Given the description of an element on the screen output the (x, y) to click on. 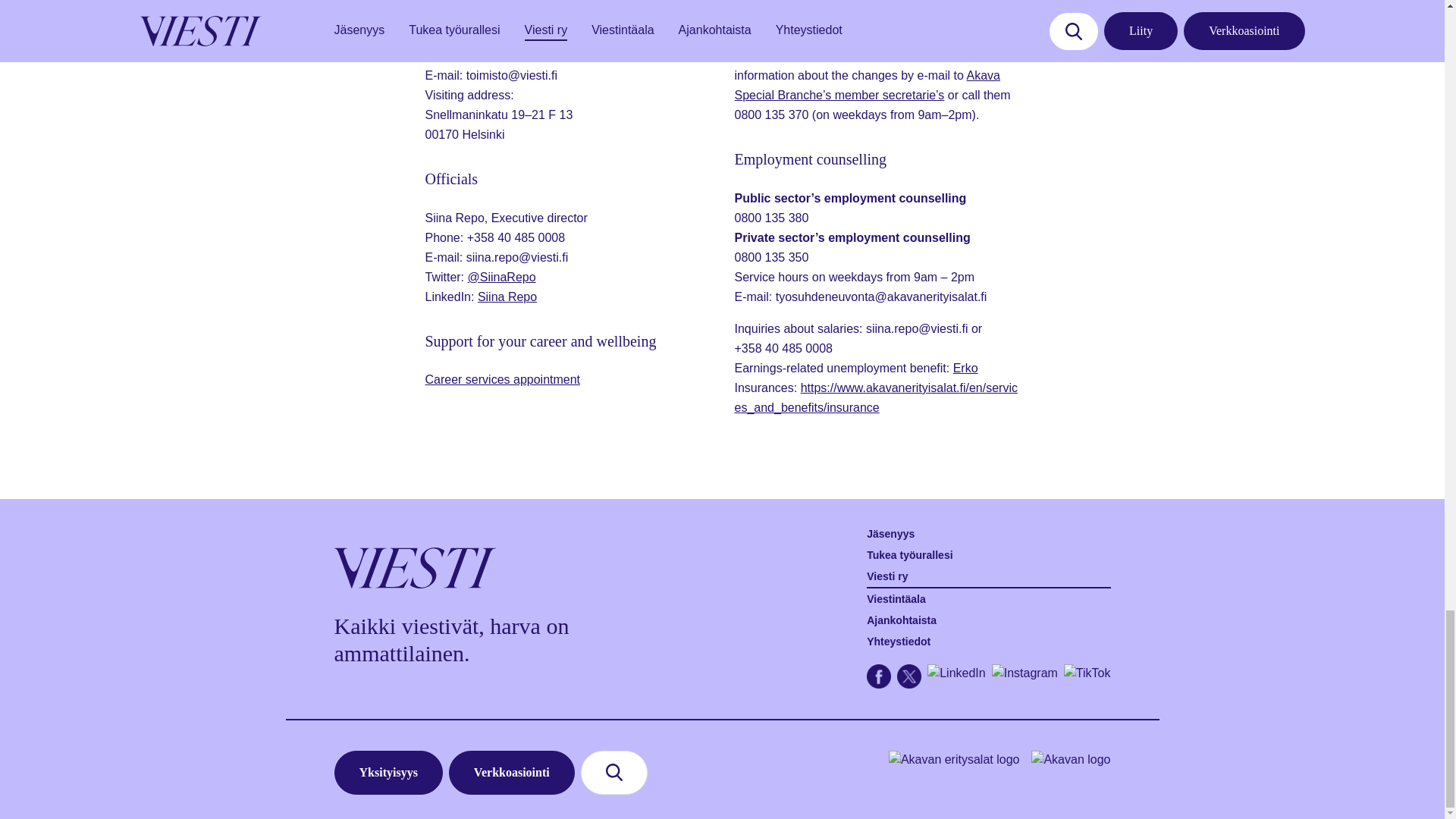
Siina Repo (507, 296)
online service.  (820, 55)
Career services appointment (502, 379)
